Given the description of an element on the screen output the (x, y) to click on. 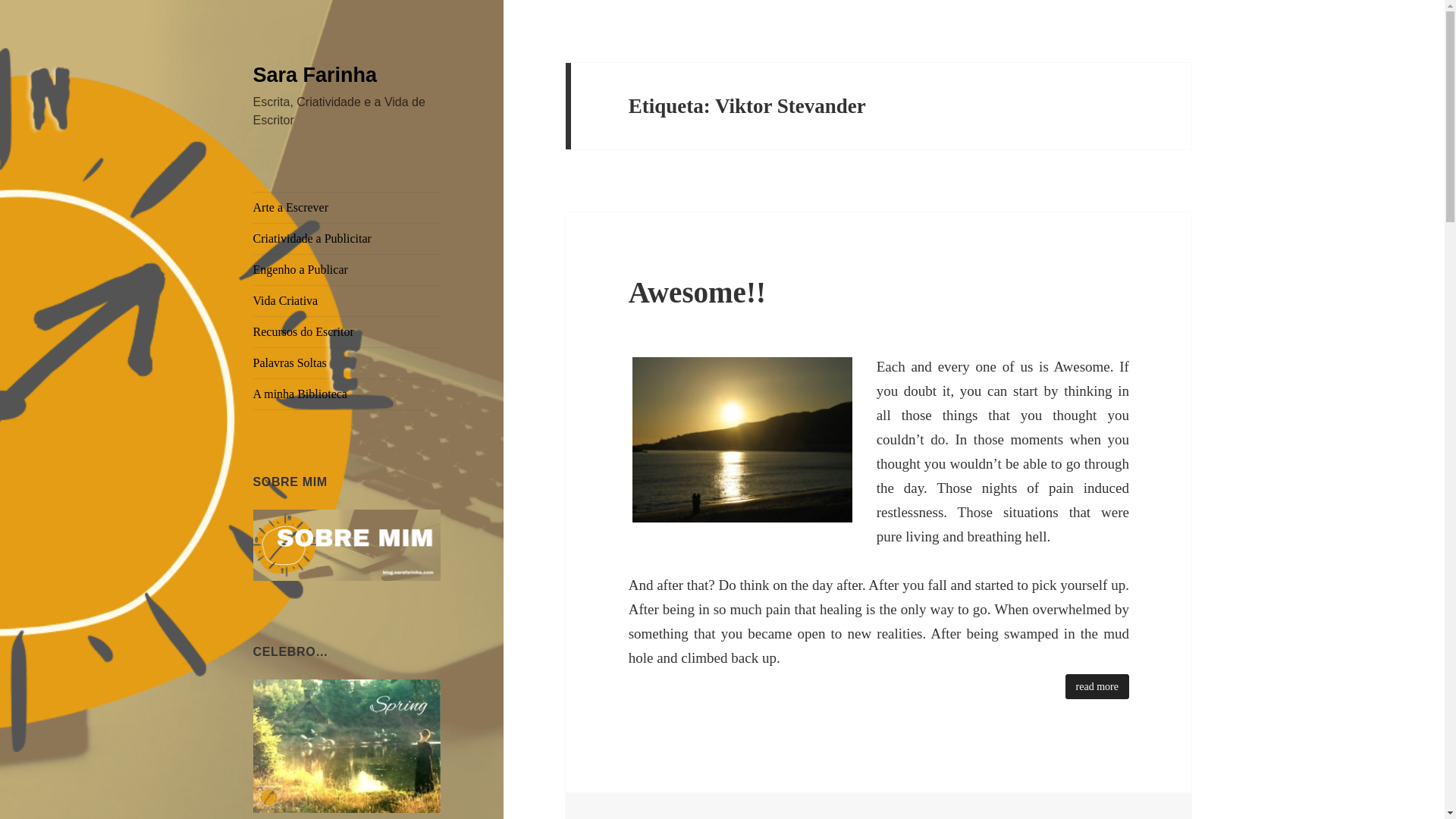
Vida Criativa (347, 300)
Engenho a Publicar (347, 269)
Awesome!! (696, 292)
Recursos do Escritor (347, 331)
Criatividade a Publicitar (347, 238)
Imagem 062 (741, 439)
Palavras Soltas (347, 363)
Arte a Escrever (347, 207)
read more (1097, 686)
Sara Farinha (315, 74)
Sobre Mim (347, 543)
A minha Biblioteca (347, 394)
